Given the description of an element on the screen output the (x, y) to click on. 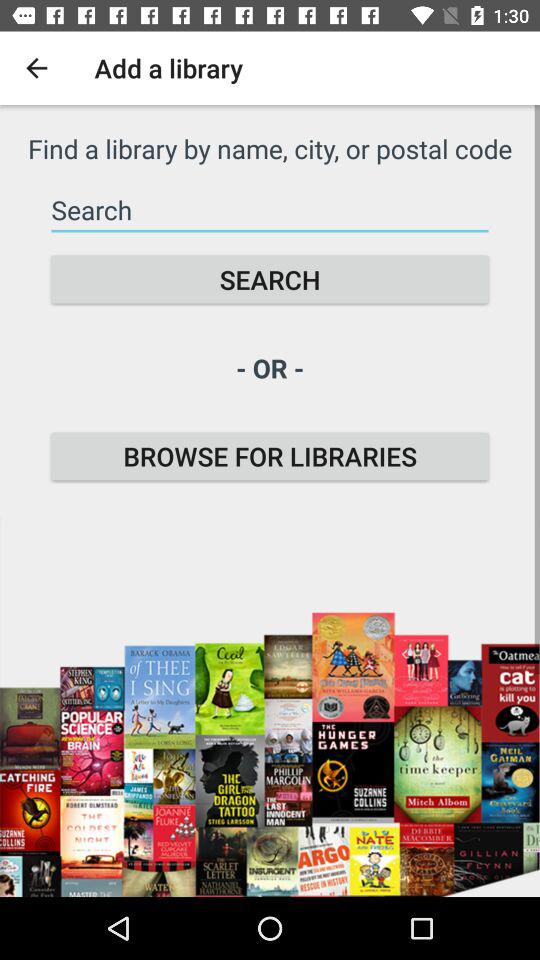
choose the icon above the search icon (269, 210)
